Given the description of an element on the screen output the (x, y) to click on. 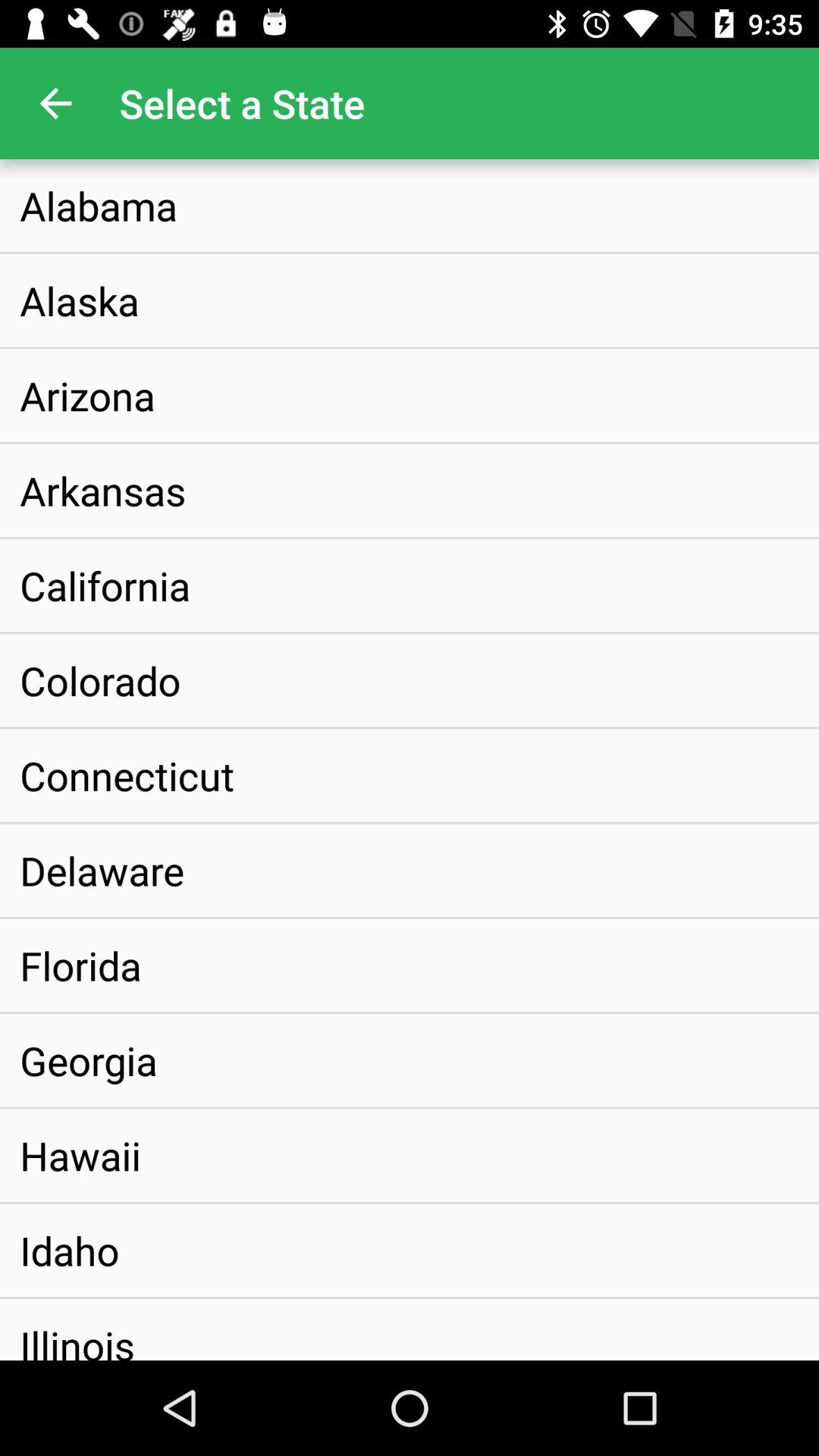
turn on the icon to the left of the select a state icon (55, 103)
